Given the description of an element on the screen output the (x, y) to click on. 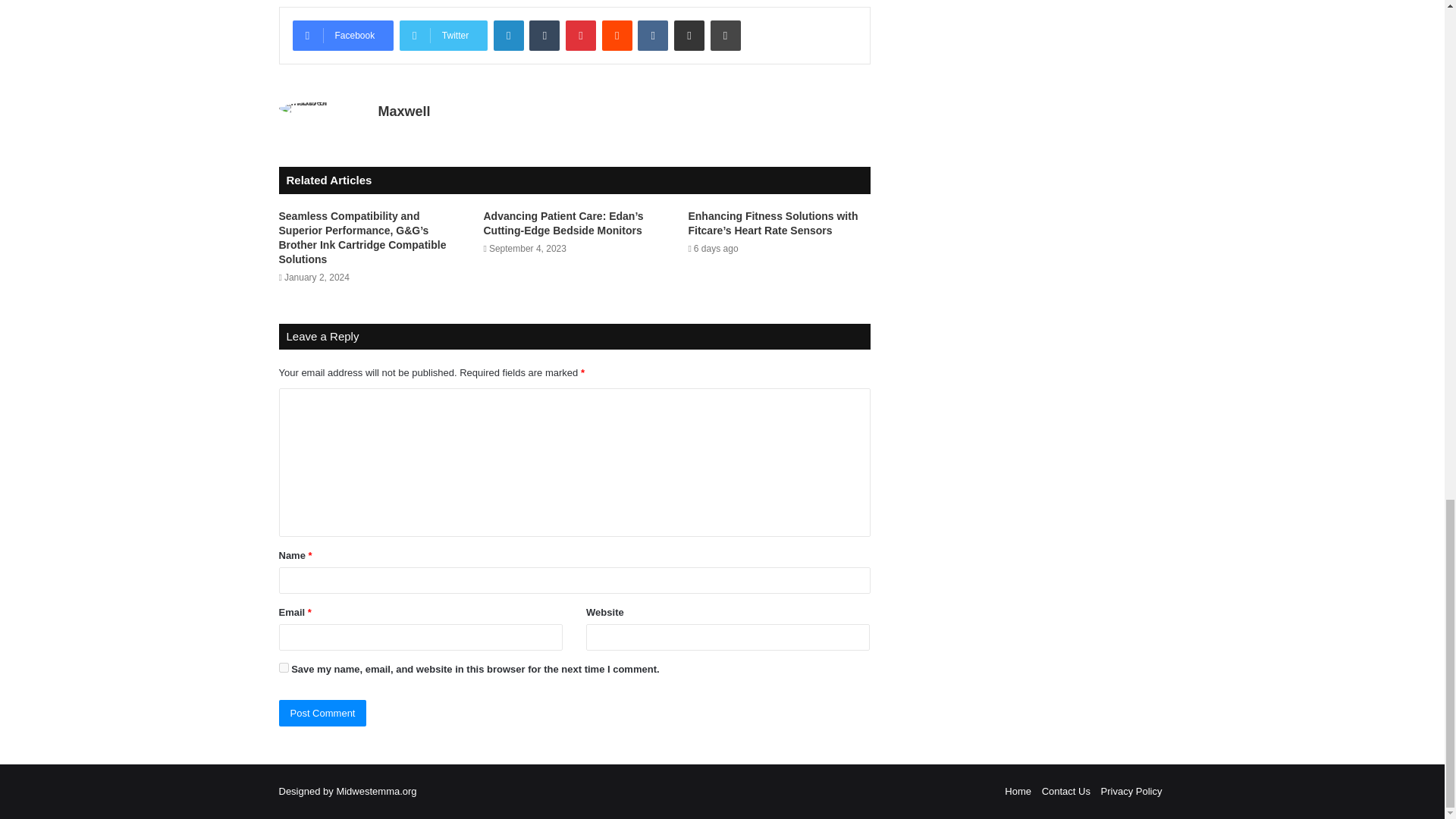
VKontakte (652, 35)
Print (725, 35)
VKontakte (652, 35)
LinkedIn (508, 35)
Facebook (343, 35)
Pinterest (580, 35)
Pinterest (580, 35)
yes (283, 667)
Reddit (616, 35)
Maxwell (403, 111)
